Given the description of an element on the screen output the (x, y) to click on. 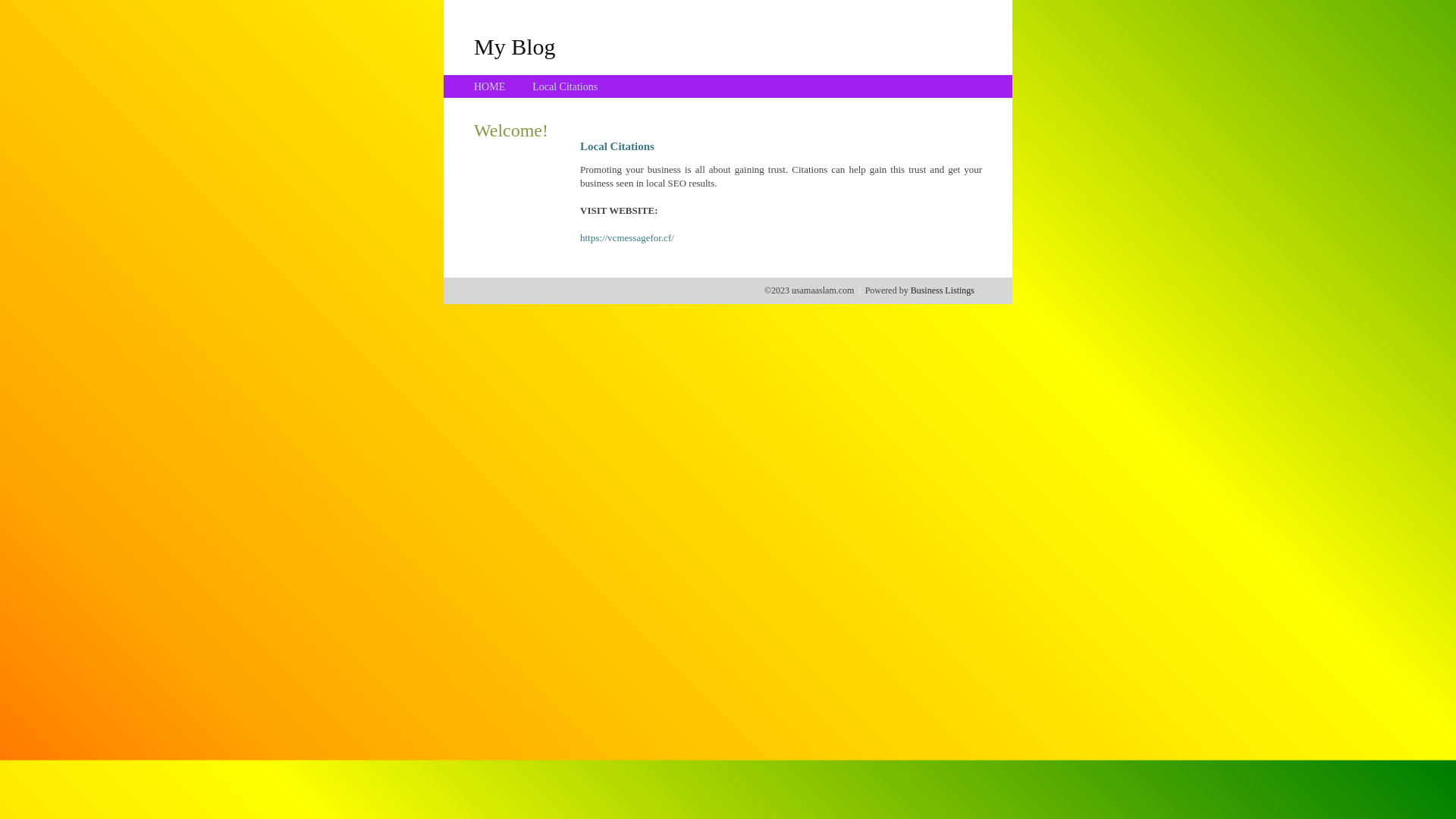
Local Citations Element type: text (564, 86)
Business Listings Element type: text (942, 290)
https://vcmessagefor.cf/ Element type: text (627, 237)
HOME Element type: text (489, 86)
My Blog Element type: text (514, 46)
